Given the description of an element on the screen output the (x, y) to click on. 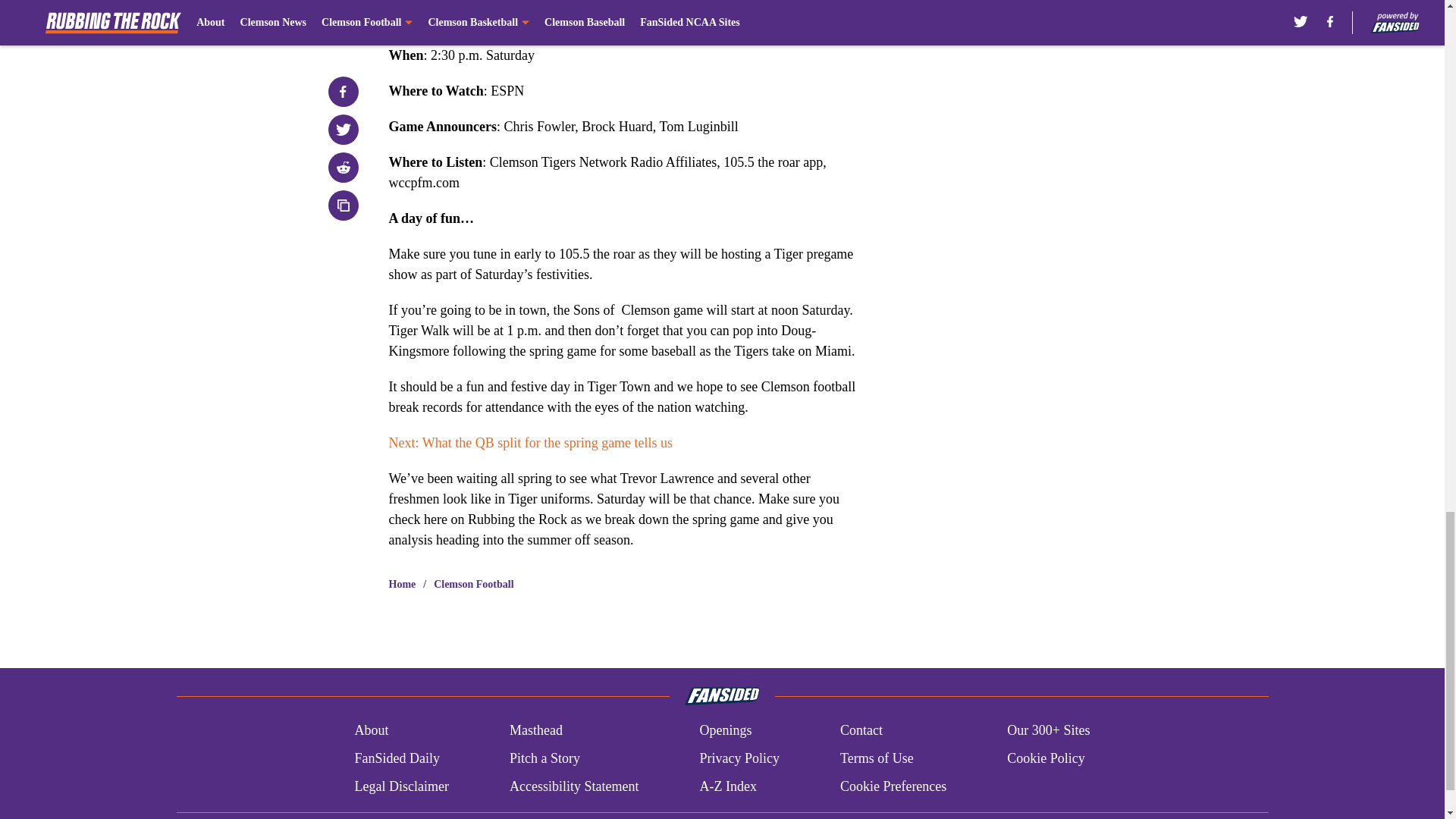
Pitch a Story (544, 758)
Cookie Preferences (893, 786)
A-Z Index (726, 786)
Terms of Use (877, 758)
Accessibility Statement (574, 786)
Clemson Football (473, 584)
FanSided Daily (396, 758)
Legal Disclaimer (400, 786)
Openings (724, 730)
Cookie Policy (1045, 758)
Masthead (535, 730)
About (370, 730)
Home (401, 584)
Next: What the QB split for the spring game tells us (530, 442)
Contact (861, 730)
